Given the description of an element on the screen output the (x, y) to click on. 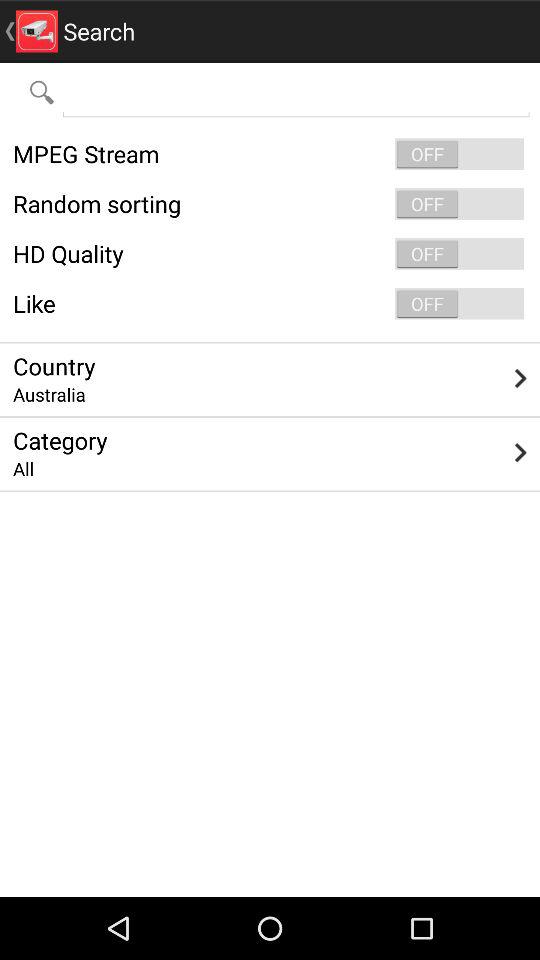
tap like (269, 303)
